Given the description of an element on the screen output the (x, y) to click on. 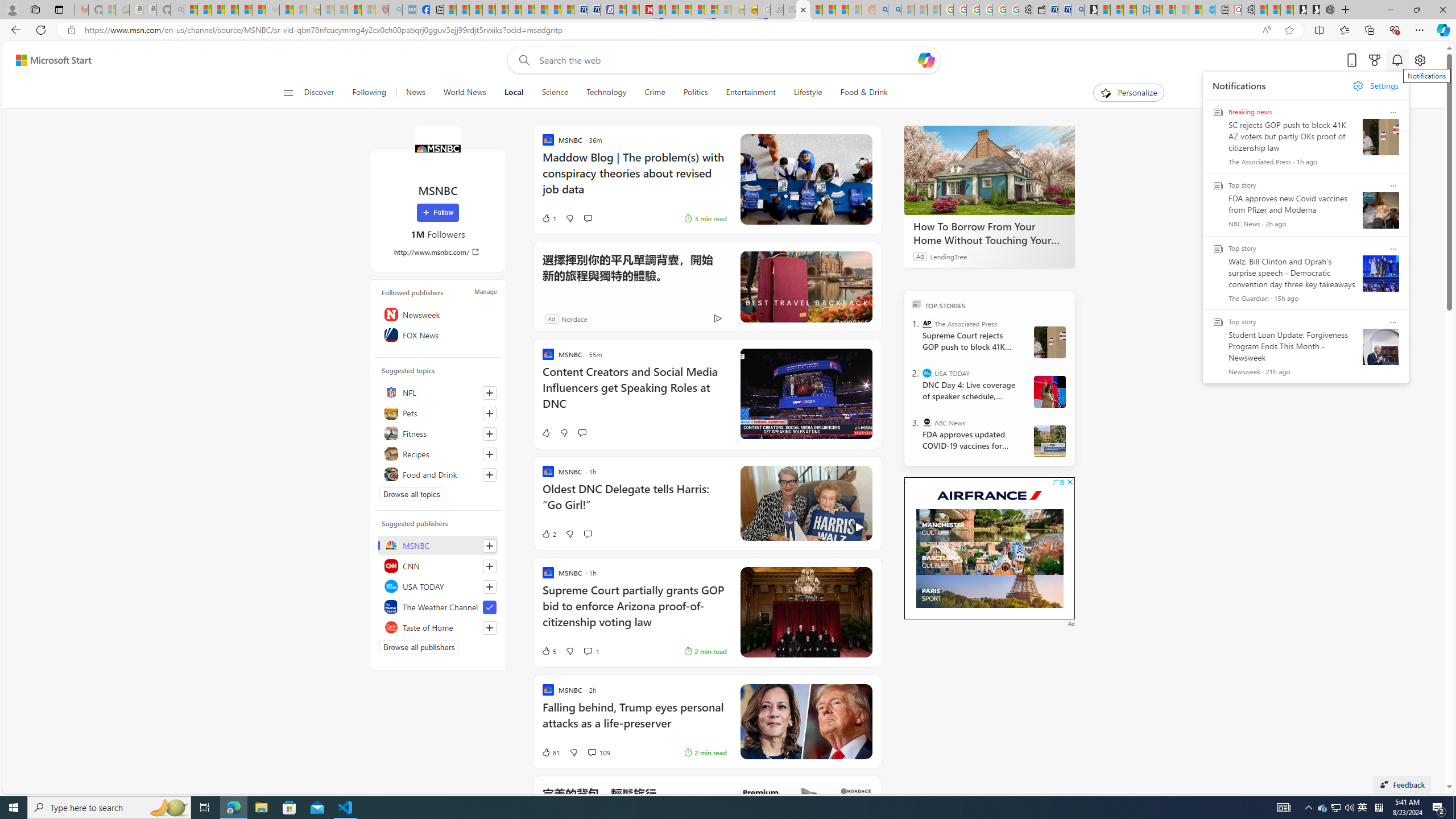
FOX News (437, 334)
Play Free Online Games | Games from Microsoft Start (1312, 9)
14 Common Myths Debunked By Scientific Facts (672, 9)
Follow this source (489, 627)
View comments 1 Comment (587, 651)
ABC News (927, 422)
MSNBC - MSN (802, 9)
View comments 109 Comment (591, 751)
Lifestyle (807, 92)
